Given the description of an element on the screen output the (x, y) to click on. 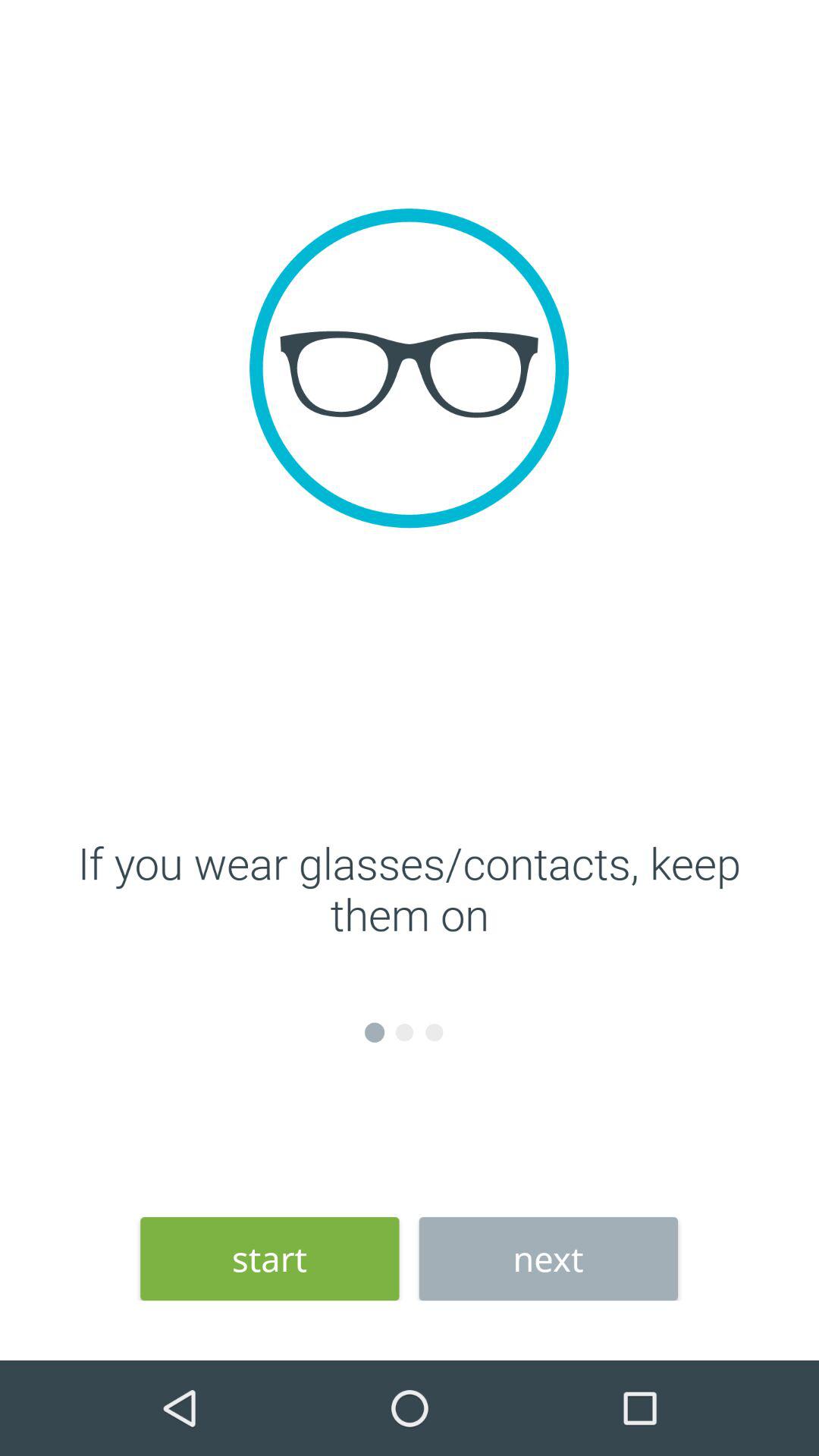
click icon next to the start icon (548, 1258)
